Given the description of an element on the screen output the (x, y) to click on. 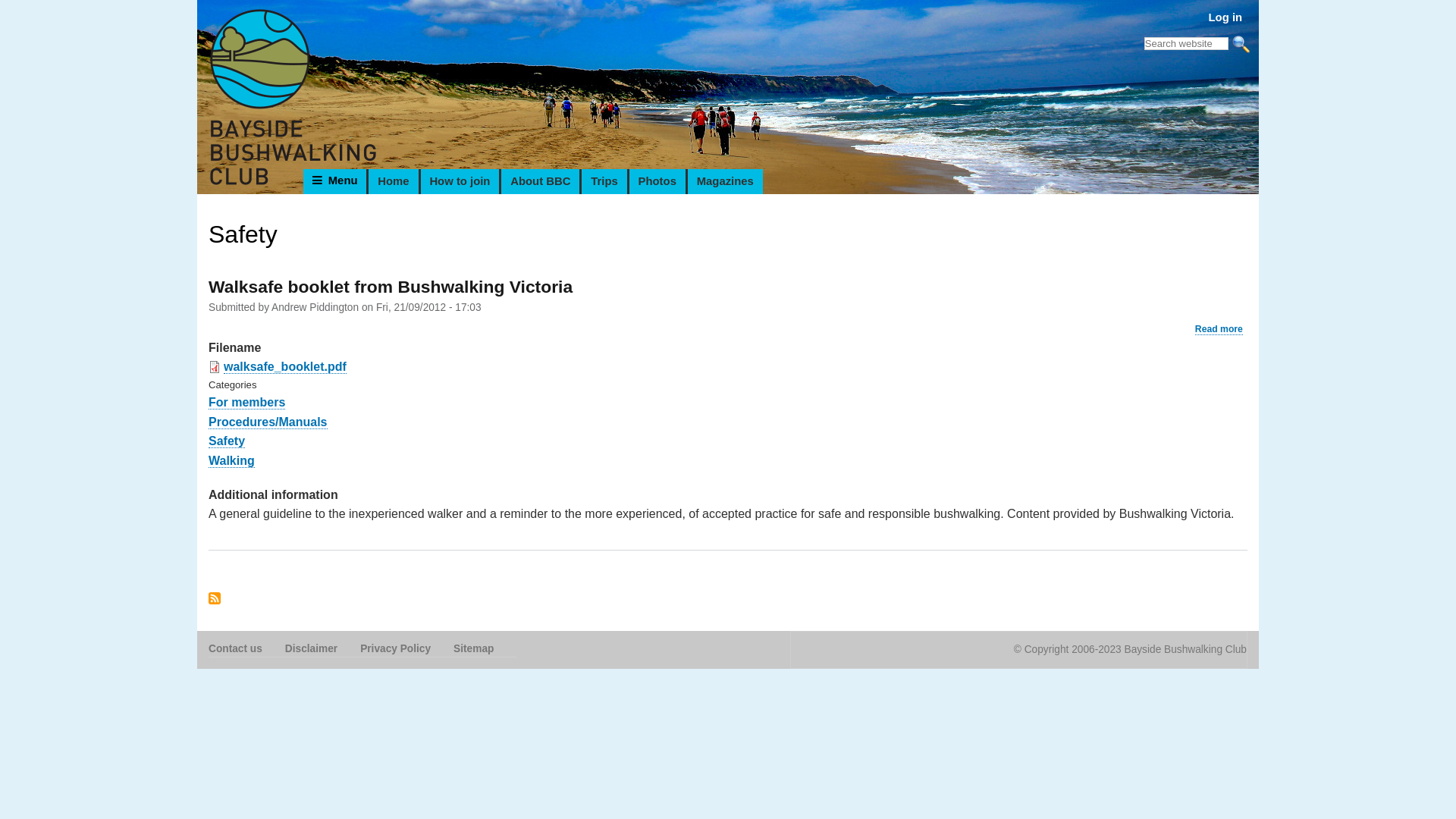
Trips Element type: text (602, 181)
Read more
about Walksafe booklet from Bushwalking Victoria Element type: text (1218, 329)
Photos Element type: text (656, 181)
Skip to main content Element type: text (728, 1)
Contact us Element type: text (246, 649)
Home Element type: text (391, 181)
Subscribe to Safety Element type: text (214, 599)
Privacy Policy Element type: text (406, 649)
Walksafe booklet from Bushwalking Victoria Element type: text (390, 286)
Procedures/Manuals Element type: text (267, 422)
Enter the terms you wish to search for. Element type: hover (1186, 43)
Magazines Element type: text (723, 181)
walksafe_booklet.pdf Element type: text (284, 366)
About BBC Element type: text (538, 181)
Safety Element type: text (226, 441)
Walking Element type: text (231, 460)
Sitemap Element type: text (484, 649)
Log in Element type: text (1229, 12)
Disclaimer Element type: text (322, 649)
How to join Element type: text (458, 181)
For members Element type: text (246, 402)
Menu Element type: text (334, 181)
